Given the description of an element on the screen output the (x, y) to click on. 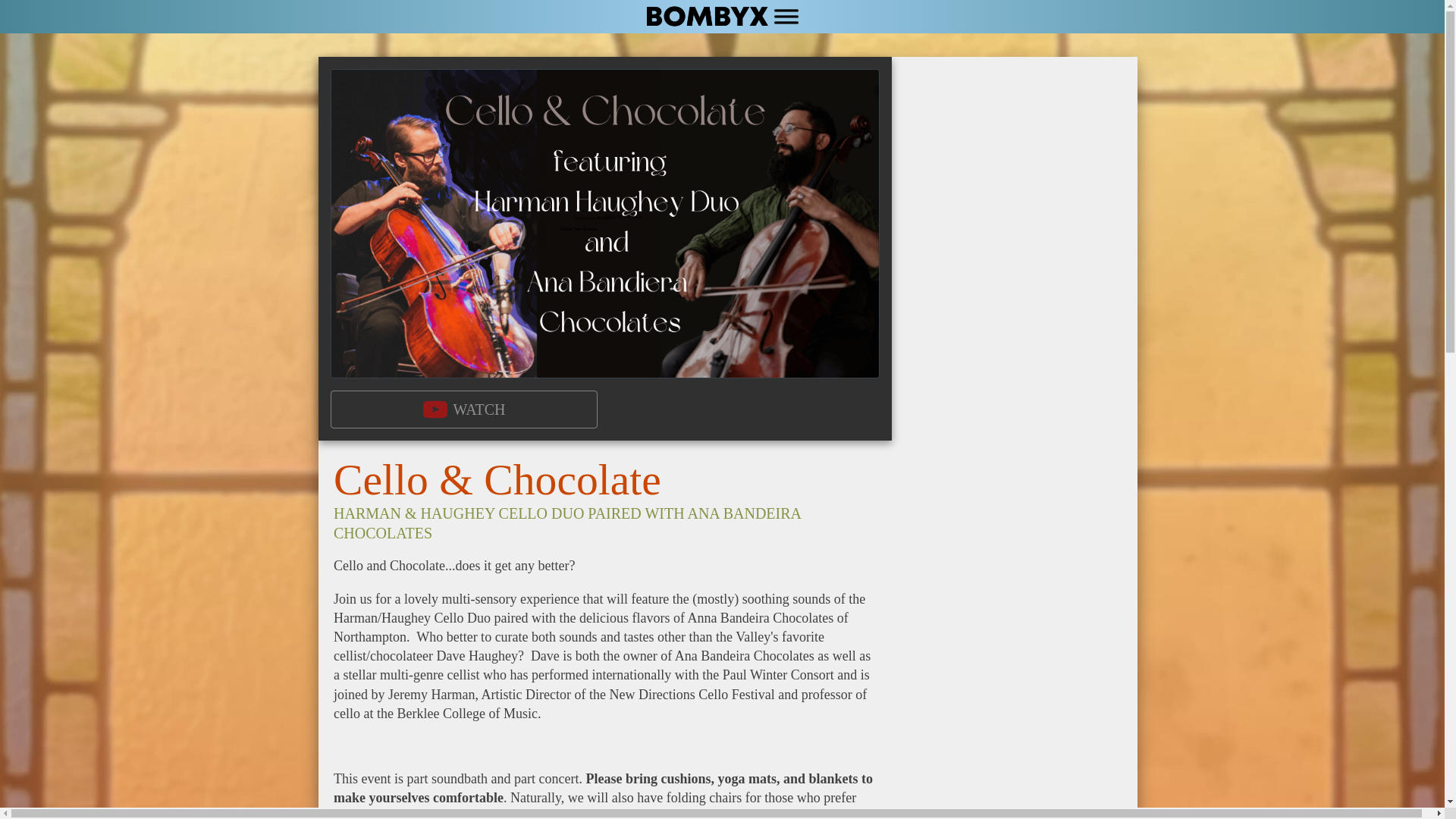
WATCH (463, 409)
